Given the description of an element on the screen output the (x, y) to click on. 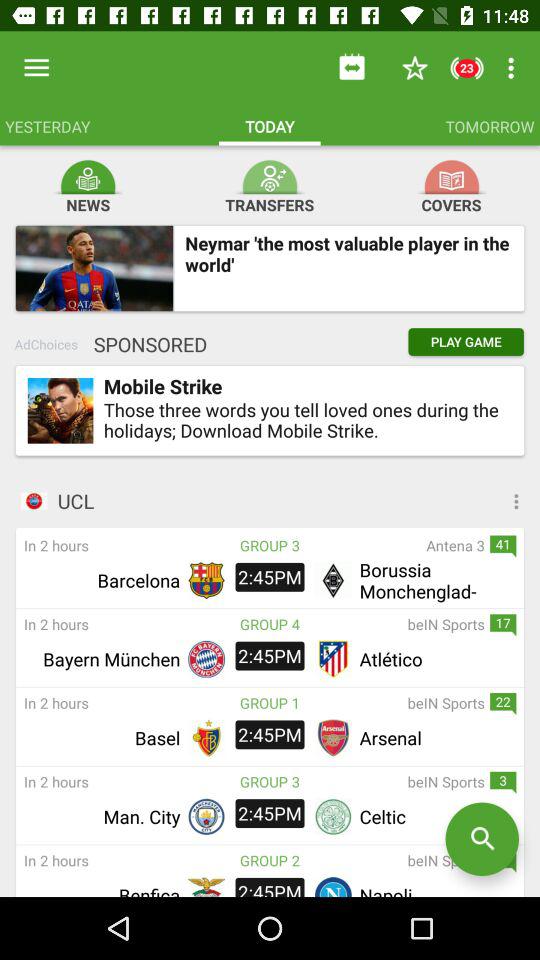
select the item above the borussia monchengladbach (392, 545)
